Given the description of an element on the screen output the (x, y) to click on. 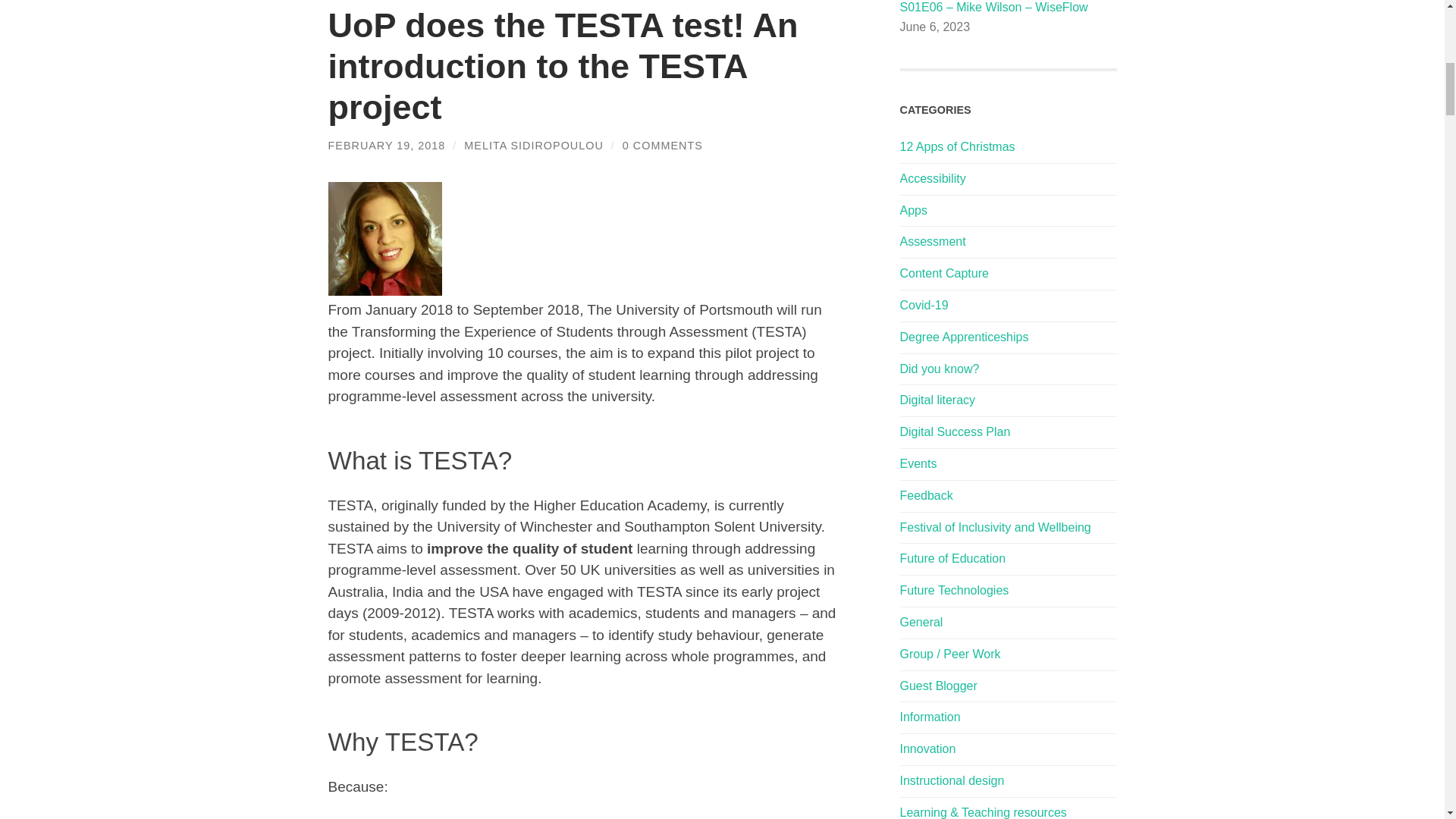
MELITA SIDIROPOULOU (533, 145)
FEBRUARY 19, 2018 (386, 145)
0 COMMENTS (663, 145)
Posts by Melita Sidiropoulou (533, 145)
